Given the description of an element on the screen output the (x, y) to click on. 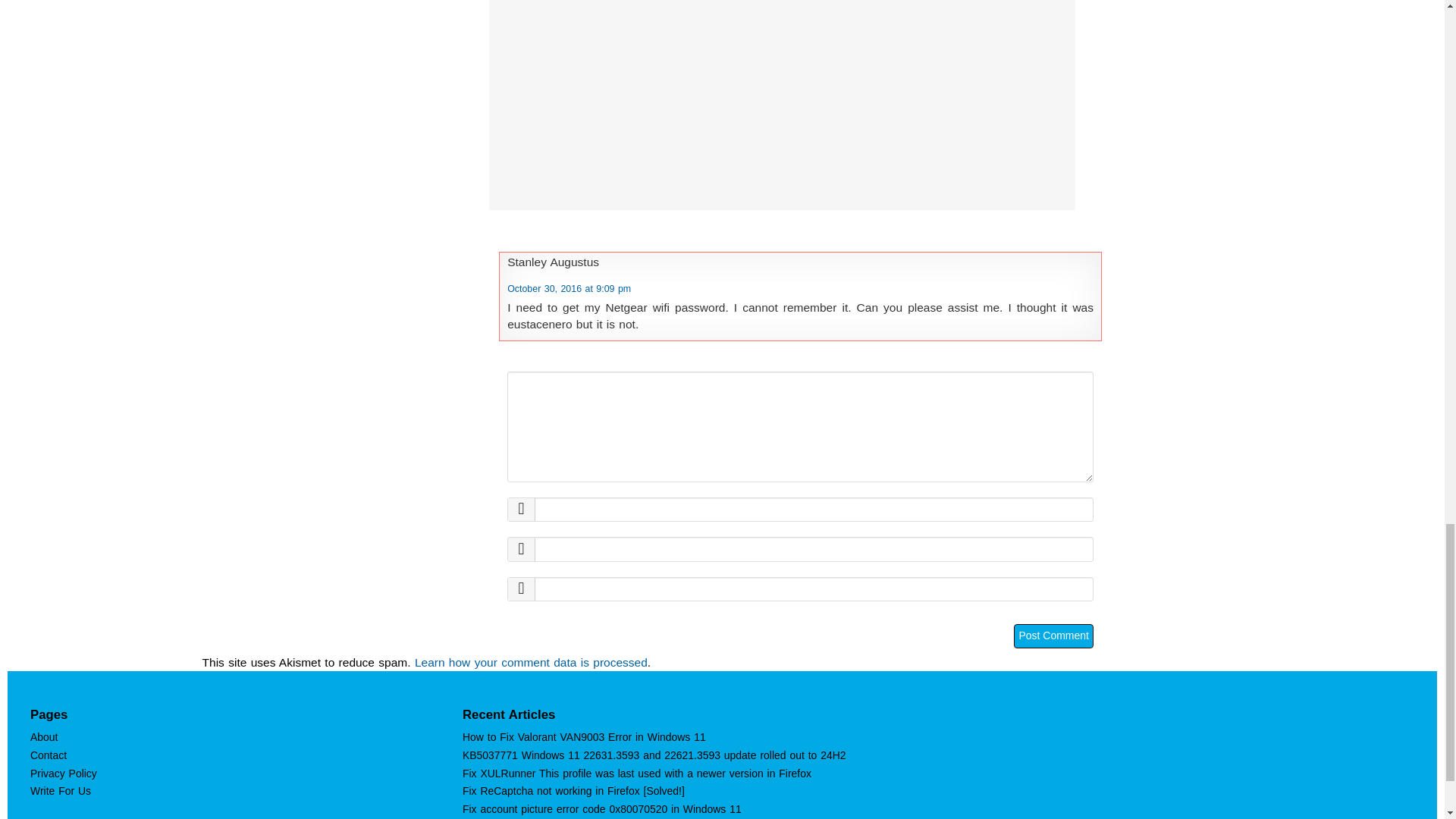
Learn how your comment data is processed (530, 662)
Post Comment (1053, 636)
Contact (48, 755)
Fix account picture error code 0x80070520 in Windows 11 (602, 808)
Post Comment (1053, 636)
Privacy Policy (63, 773)
Write For Us (60, 790)
How to Fix Valorant VAN9003 Error in Windows 11 (584, 736)
About (44, 736)
October 30, 2016 at 9:09 pm (568, 288)
